Given the description of an element on the screen output the (x, y) to click on. 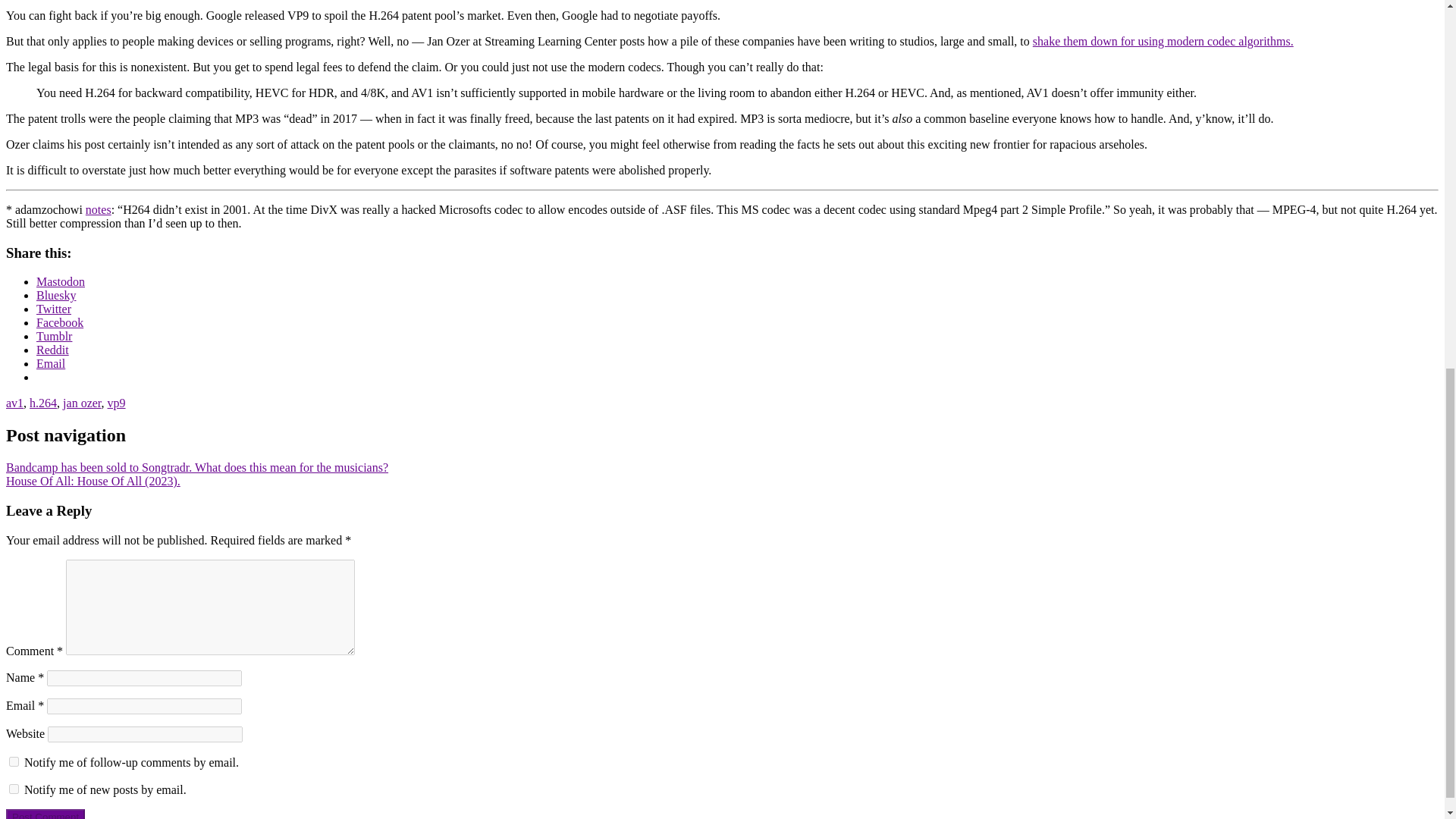
Click to share on Tumblr (53, 336)
Click to share on Reddit (52, 349)
h.264 (42, 402)
Click to email a link to a friend (50, 363)
av1 (14, 402)
Twitter (53, 308)
Bluesky (55, 295)
Facebook (59, 322)
notes (98, 209)
jan ozer (81, 402)
Reddit (52, 349)
subscribe (13, 787)
subscribe (13, 760)
vp9 (116, 402)
